Given the description of an element on the screen output the (x, y) to click on. 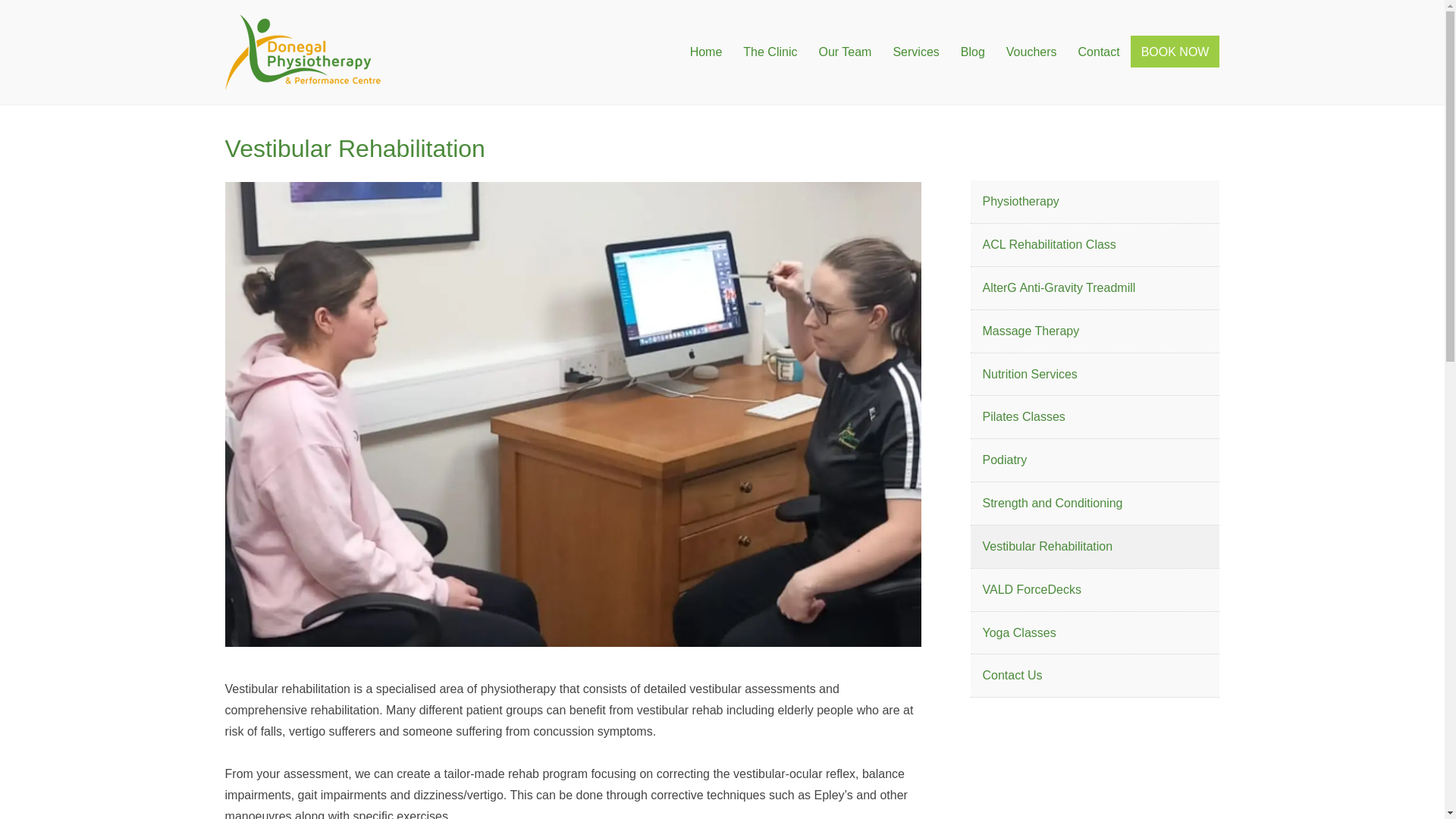
Massage Therapy (1095, 331)
Our Team (845, 51)
The Clinic (770, 51)
Contact Us (1095, 675)
Blog (972, 51)
Podiatry (1095, 459)
BOOK NOW (1175, 51)
Contact (1099, 51)
ACL Rehabilitation Class (1095, 244)
VALD ForceDecks (1095, 589)
Pilates Classes (1095, 416)
AlterG Anti-Gravity Treadmill (1095, 287)
Physiotherapy (1095, 201)
Vouchers (1031, 51)
Strength and Conditioning (1095, 503)
